Given the description of an element on the screen output the (x, y) to click on. 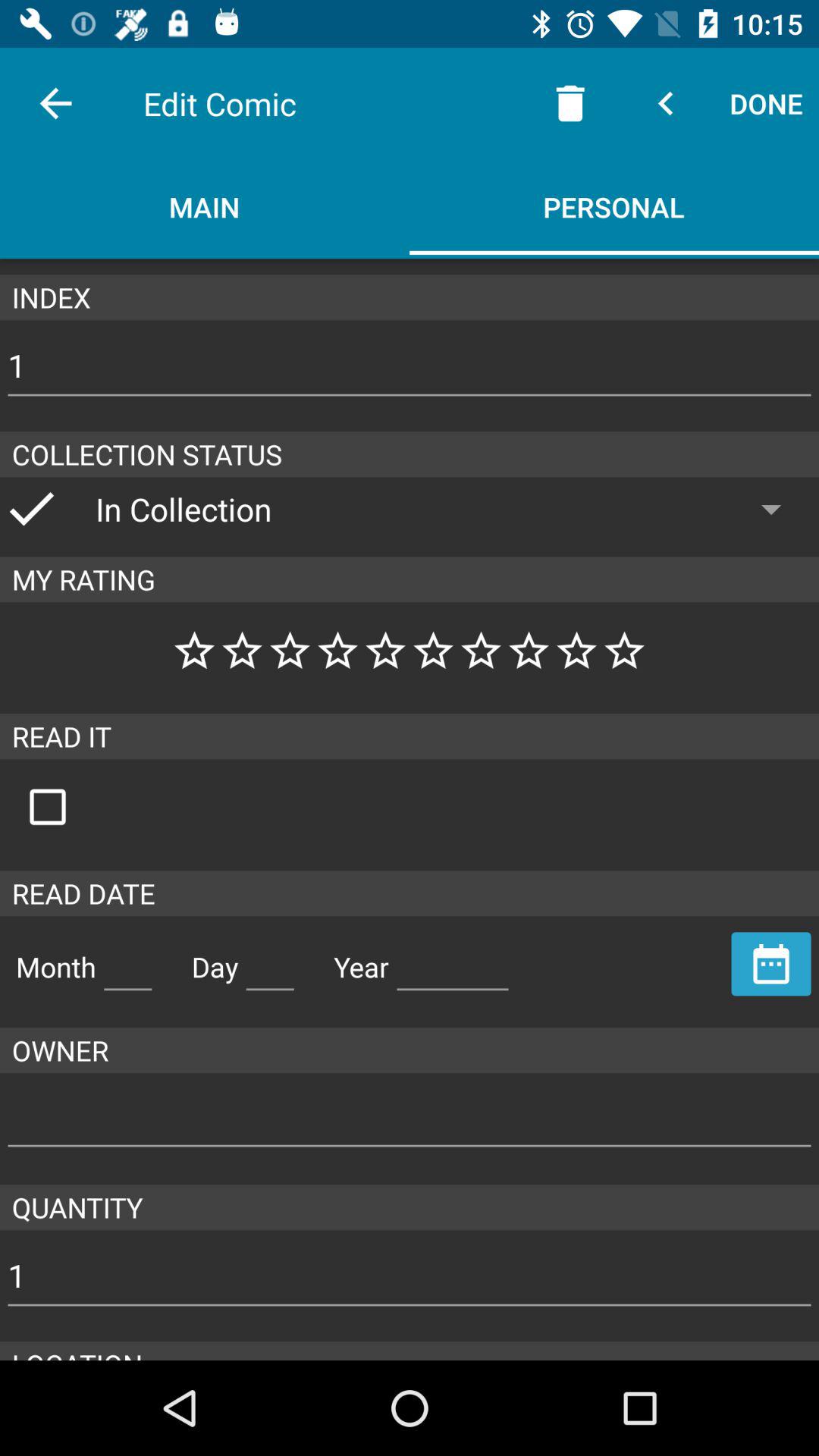
allow text input (270, 961)
